Given the description of an element on the screen output the (x, y) to click on. 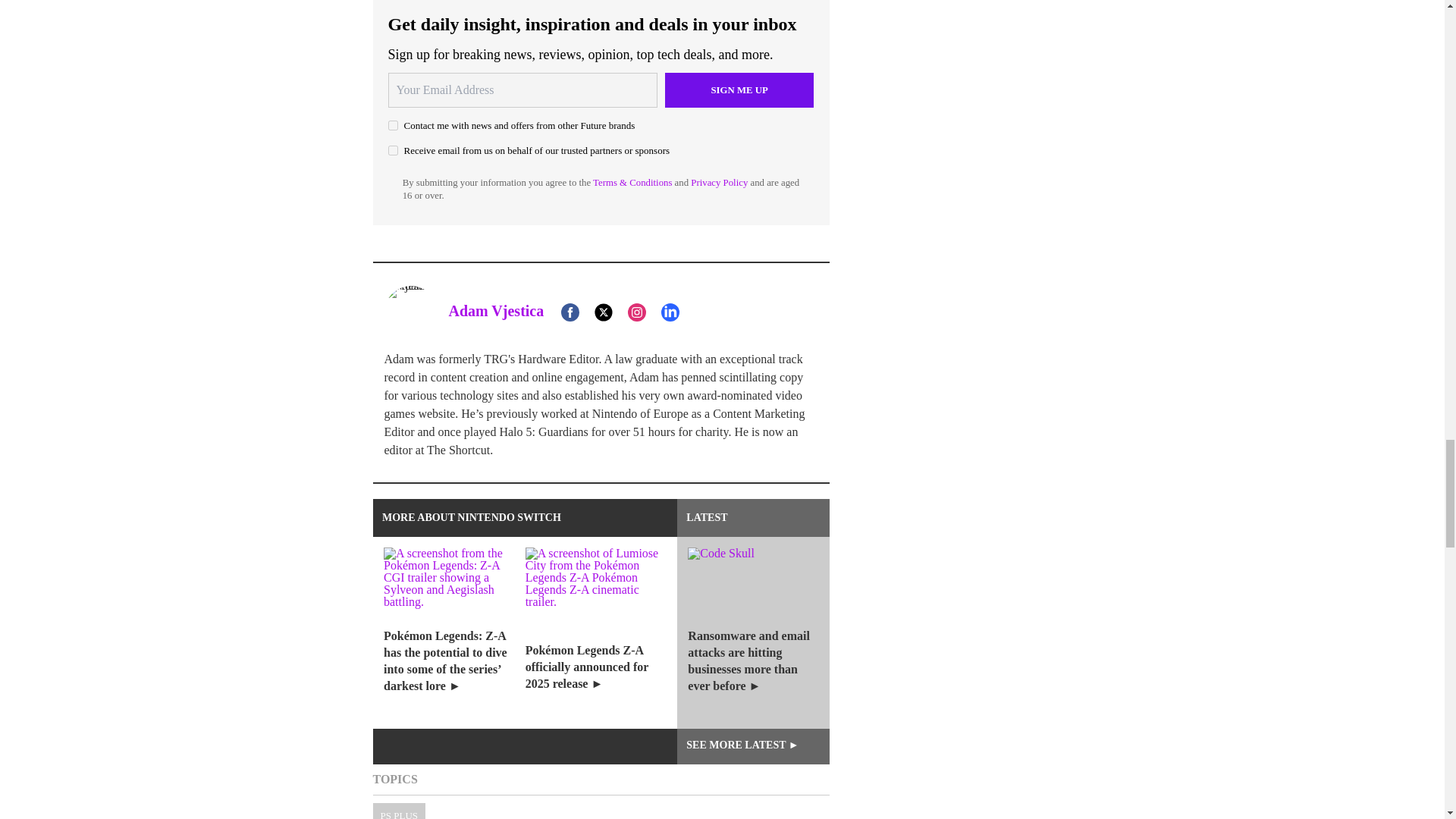
on (392, 150)
on (392, 125)
Sign me up (739, 89)
